Given the description of an element on the screen output the (x, y) to click on. 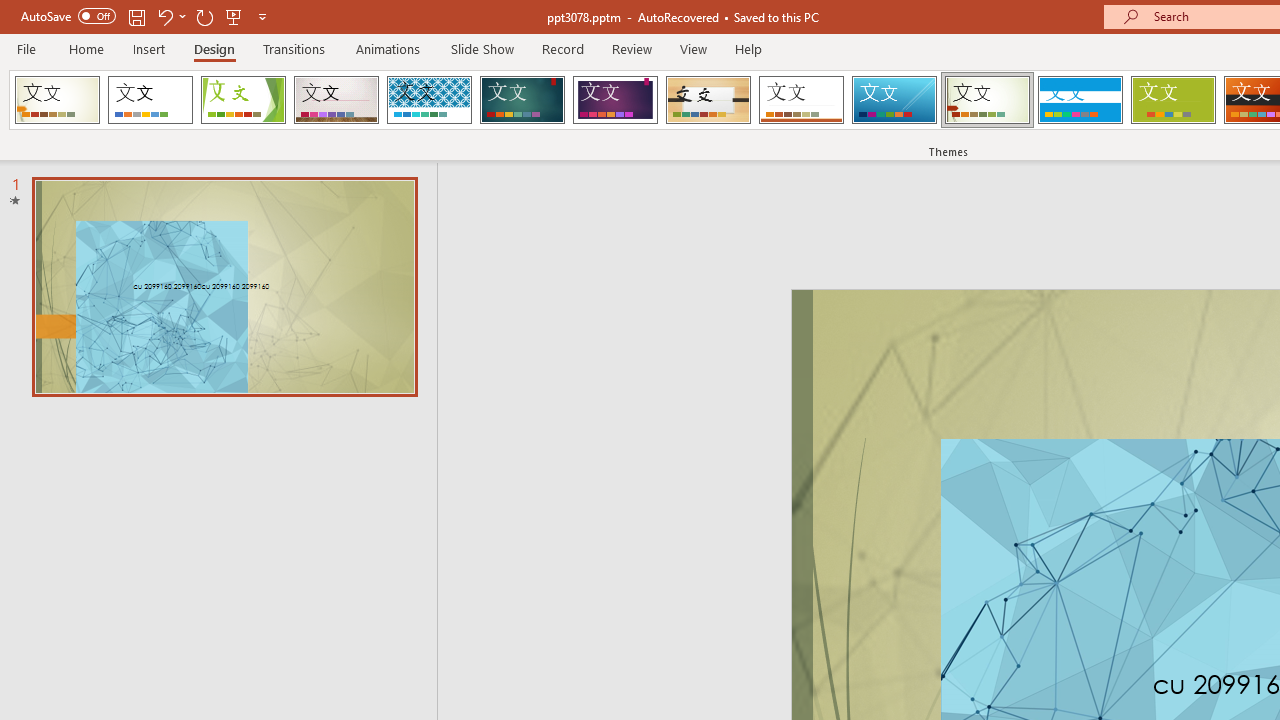
Banded Loading Preview... (1080, 100)
Slice Loading Preview... (893, 100)
Facet (243, 100)
Ion Loading Preview... (522, 100)
